Given the description of an element on the screen output the (x, y) to click on. 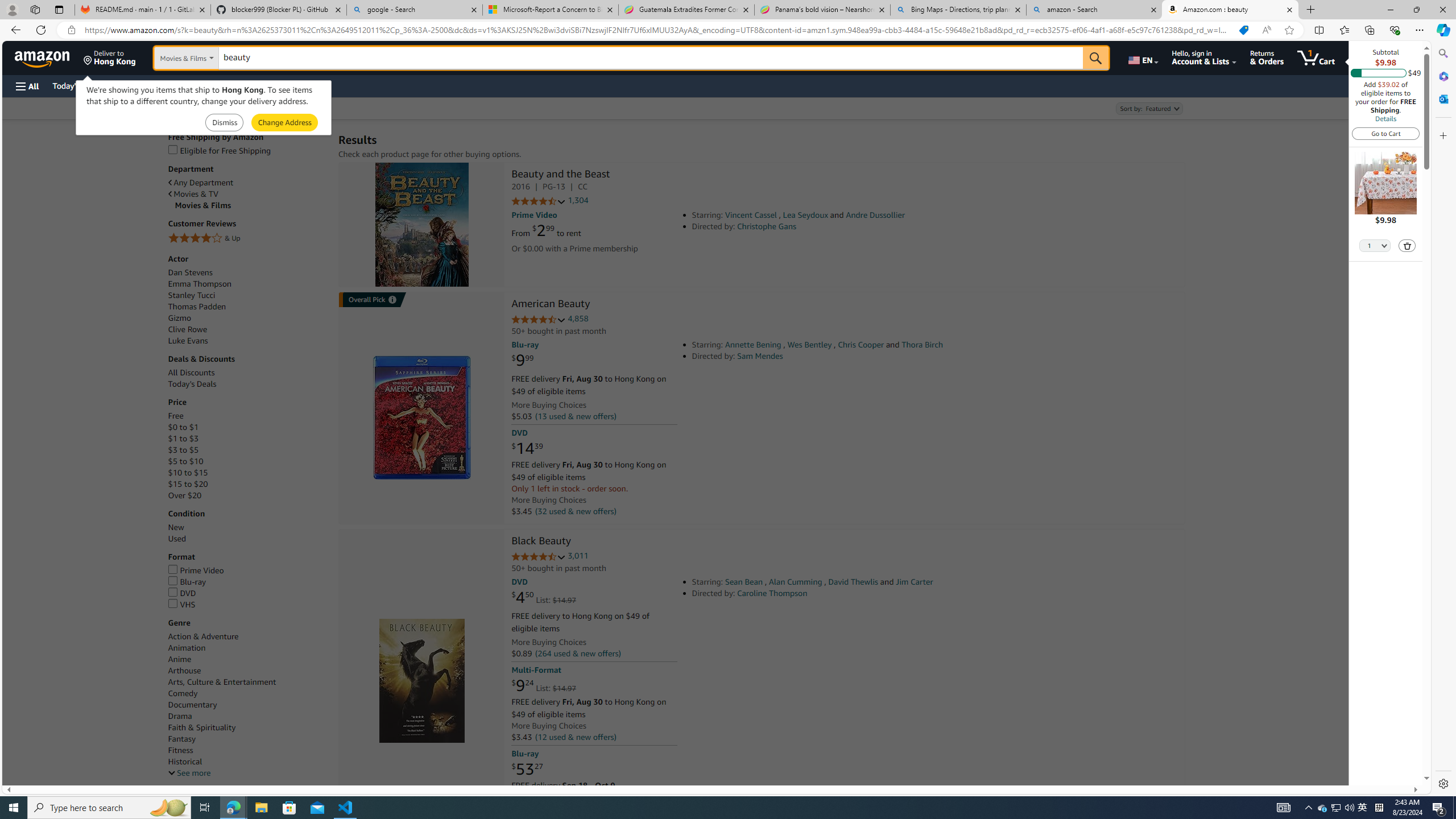
Fitness (247, 750)
Drama (247, 716)
Lea Seydoux (805, 214)
$5 to $10 (247, 461)
Go (1096, 57)
Vincent Cassel (751, 214)
Movies & Films (250, 205)
(13 used & new offers) (574, 416)
Delete (1407, 245)
Customer Service (145, 85)
Returns & Orders (1266, 57)
